Given the description of an element on the screen output the (x, y) to click on. 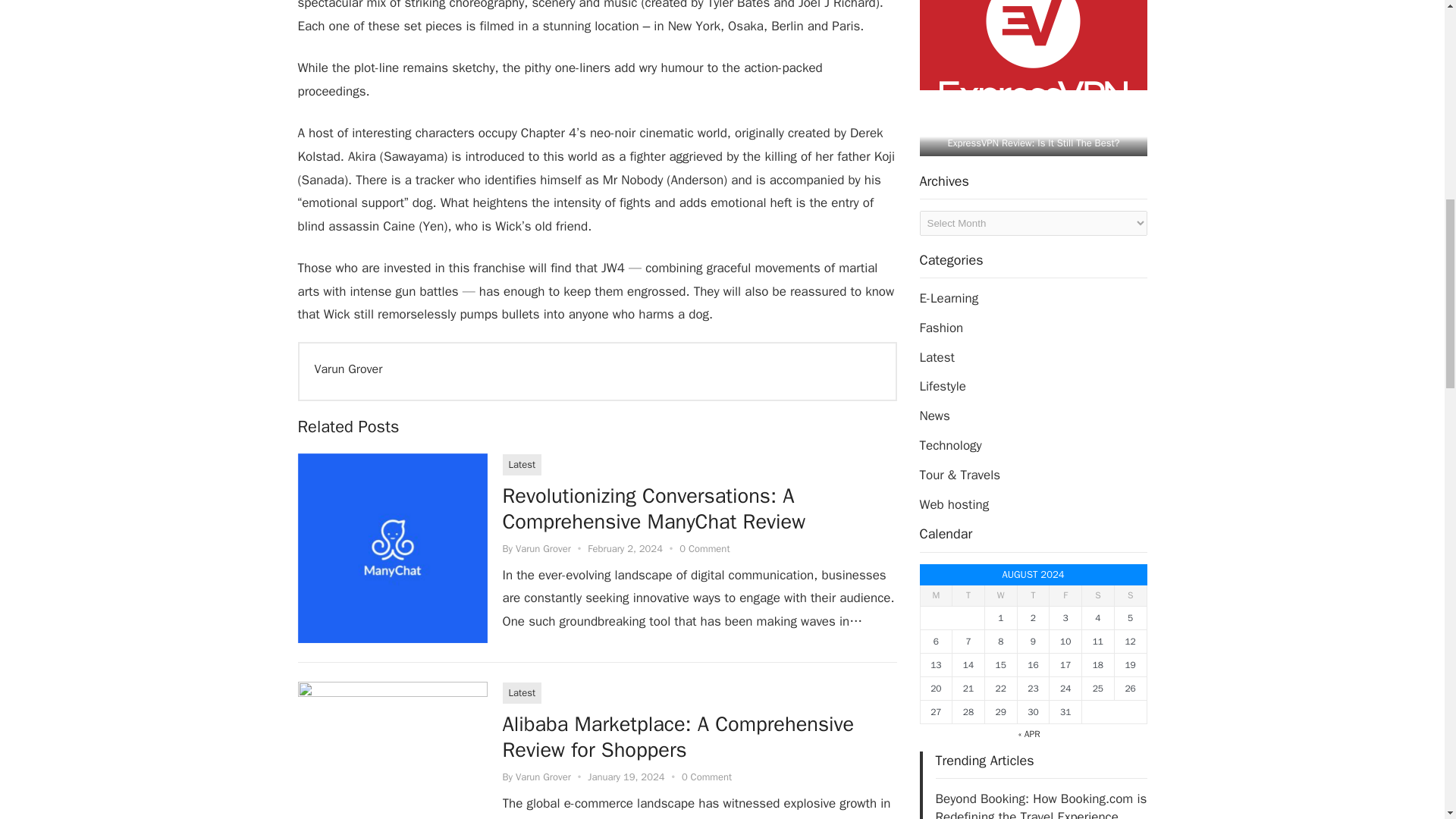
Varun Grover (347, 368)
Sunday (1130, 595)
Posts by Varun Grover (542, 548)
Tuesday (968, 595)
Alibaba Marketplace: A Comprehensive Review for Shoppers (677, 736)
Varun Grover (542, 548)
Varun Grover (542, 776)
Latest (521, 464)
Posts by Varun Grover (542, 776)
